Given the description of an element on the screen output the (x, y) to click on. 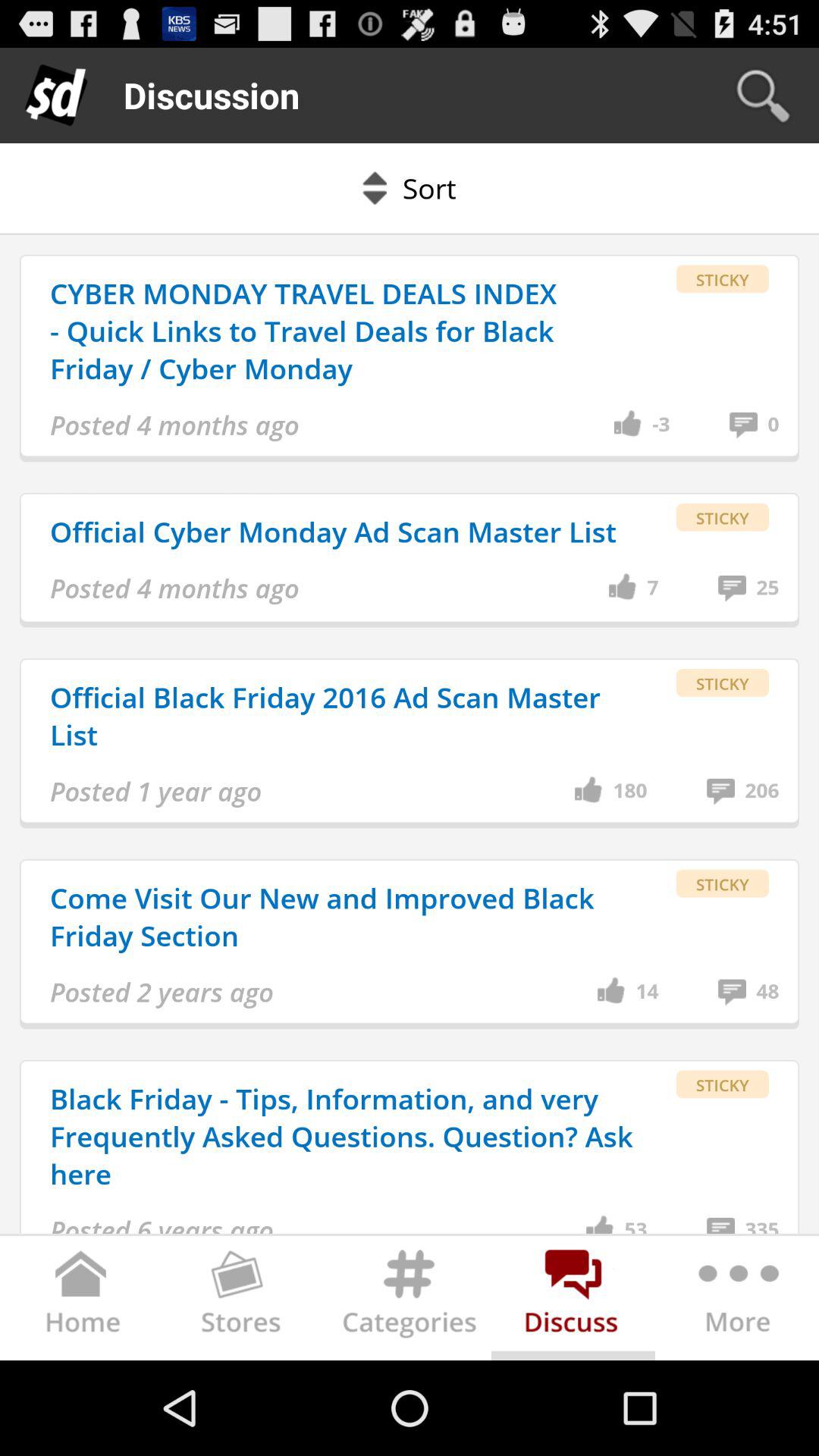
further options (736, 1300)
